Given the description of an element on the screen output the (x, y) to click on. 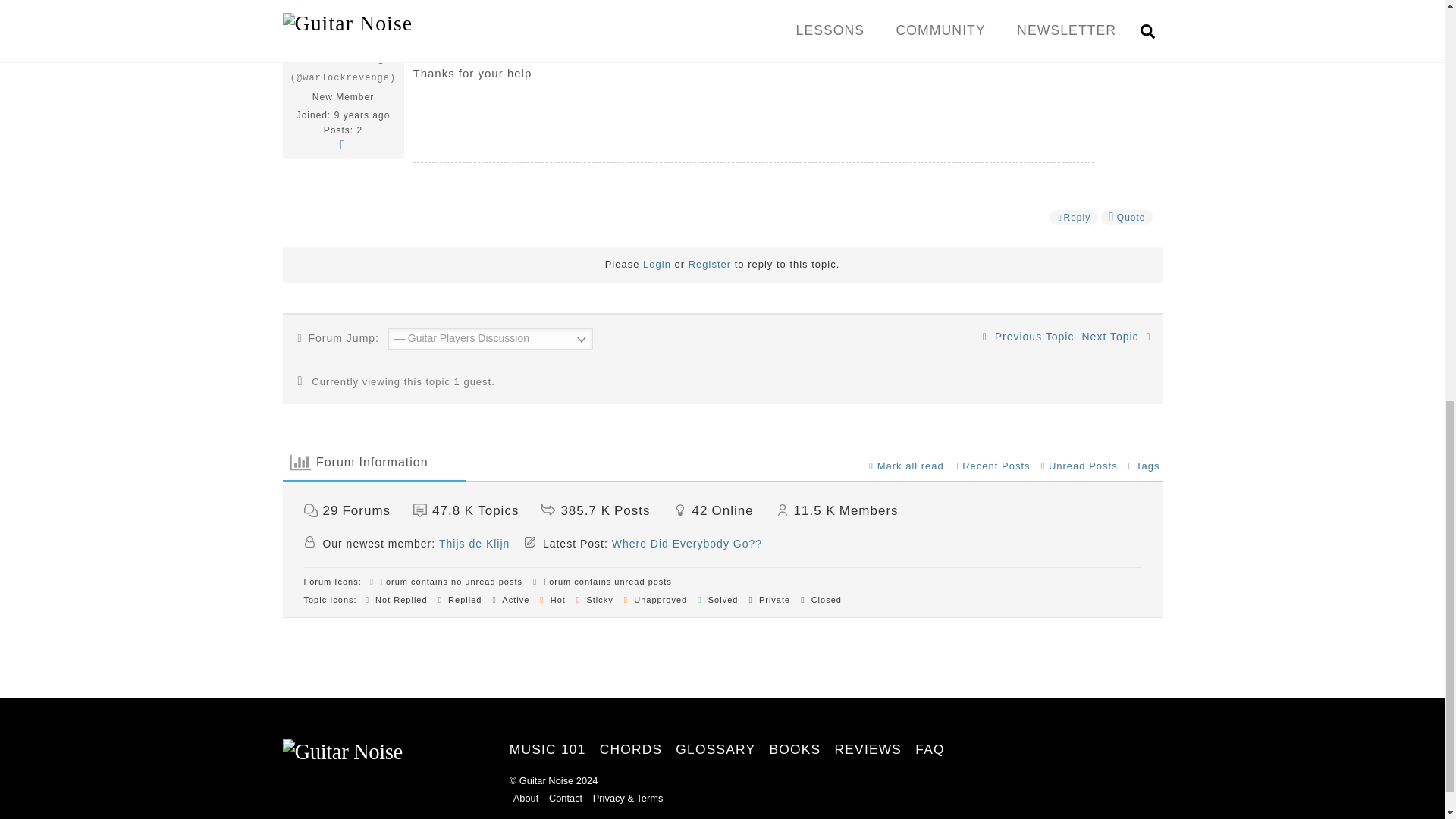
Recent Posts (992, 465)
Register (709, 264)
Login (657, 264)
Mark all read (906, 465)
Warlockrevenge (345, 57)
Next Topic   (1115, 336)
Thijs de Klijn (474, 543)
Unread Posts (1079, 465)
Tags (1144, 465)
Where Did Everybody Go?? (686, 543)
  Previous Topic (1028, 336)
MUSIC 101 (547, 749)
